Given the description of an element on the screen output the (x, y) to click on. 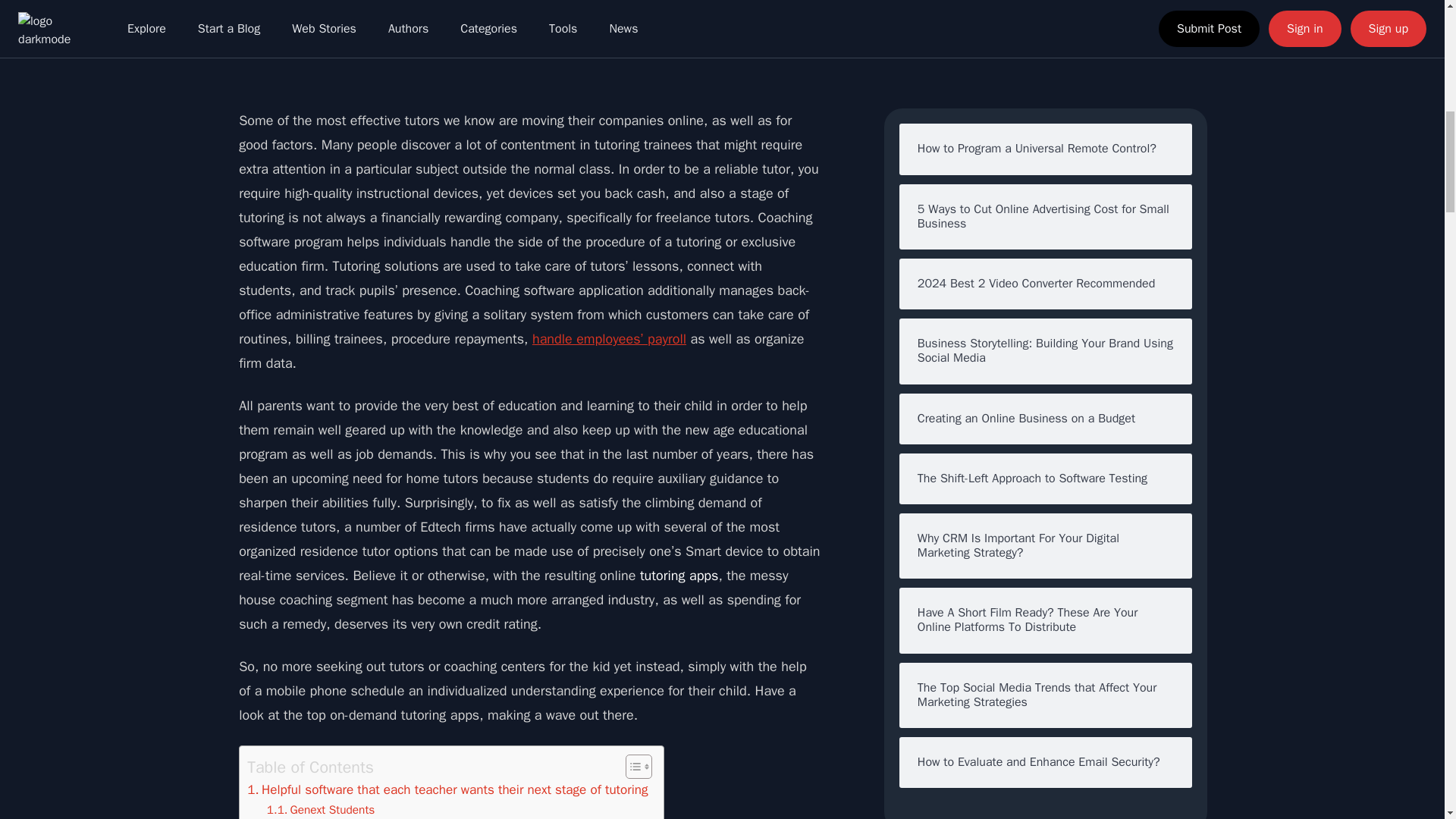
Genext Students (320, 809)
Genext Students (320, 809)
